Given the description of an element on the screen output the (x, y) to click on. 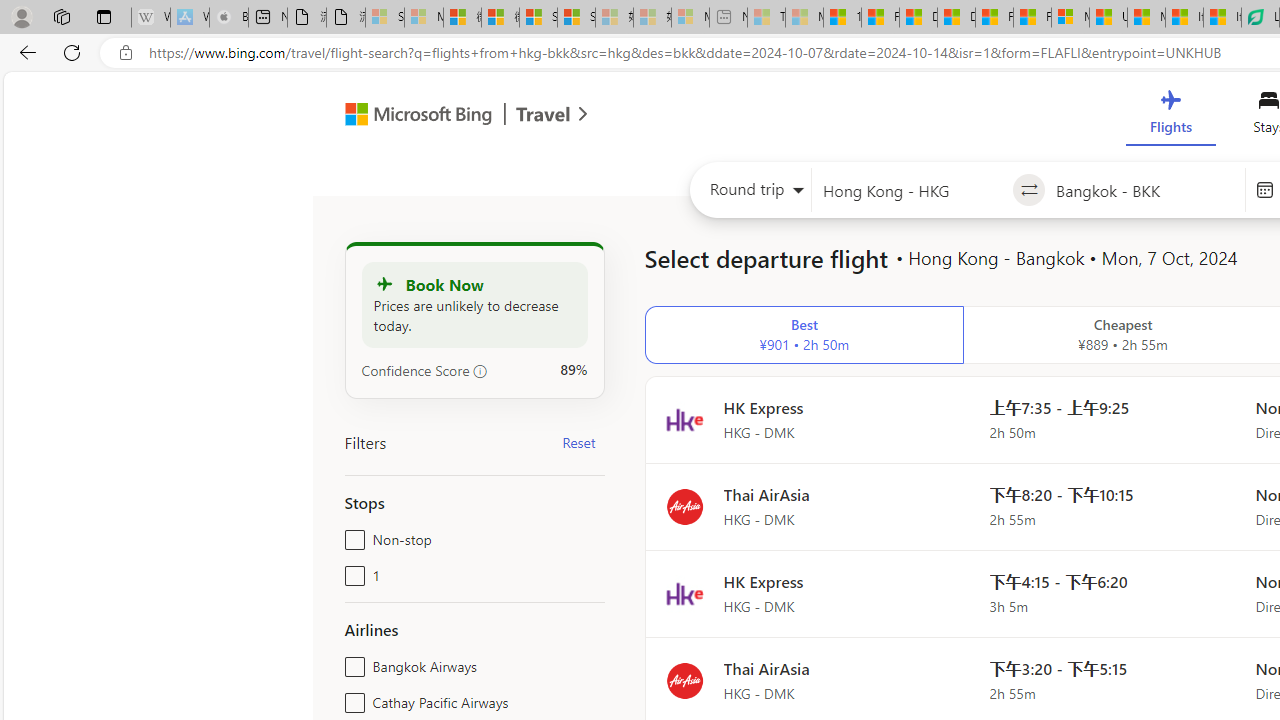
Class: msft-bing-logo msft-bing-logo-desktop (413, 114)
Foo BAR | Trusted Community Engagement and Contributions (1031, 17)
Microsoft Bing Travel (445, 116)
Marine life - MSN - Sleeping (804, 17)
Class: autosuggest-container full-height no-y-padding (1145, 190)
Microsoft Services Agreement - Sleeping (423, 17)
Top Stories - MSN - Sleeping (765, 17)
